Given the description of an element on the screen output the (x, y) to click on. 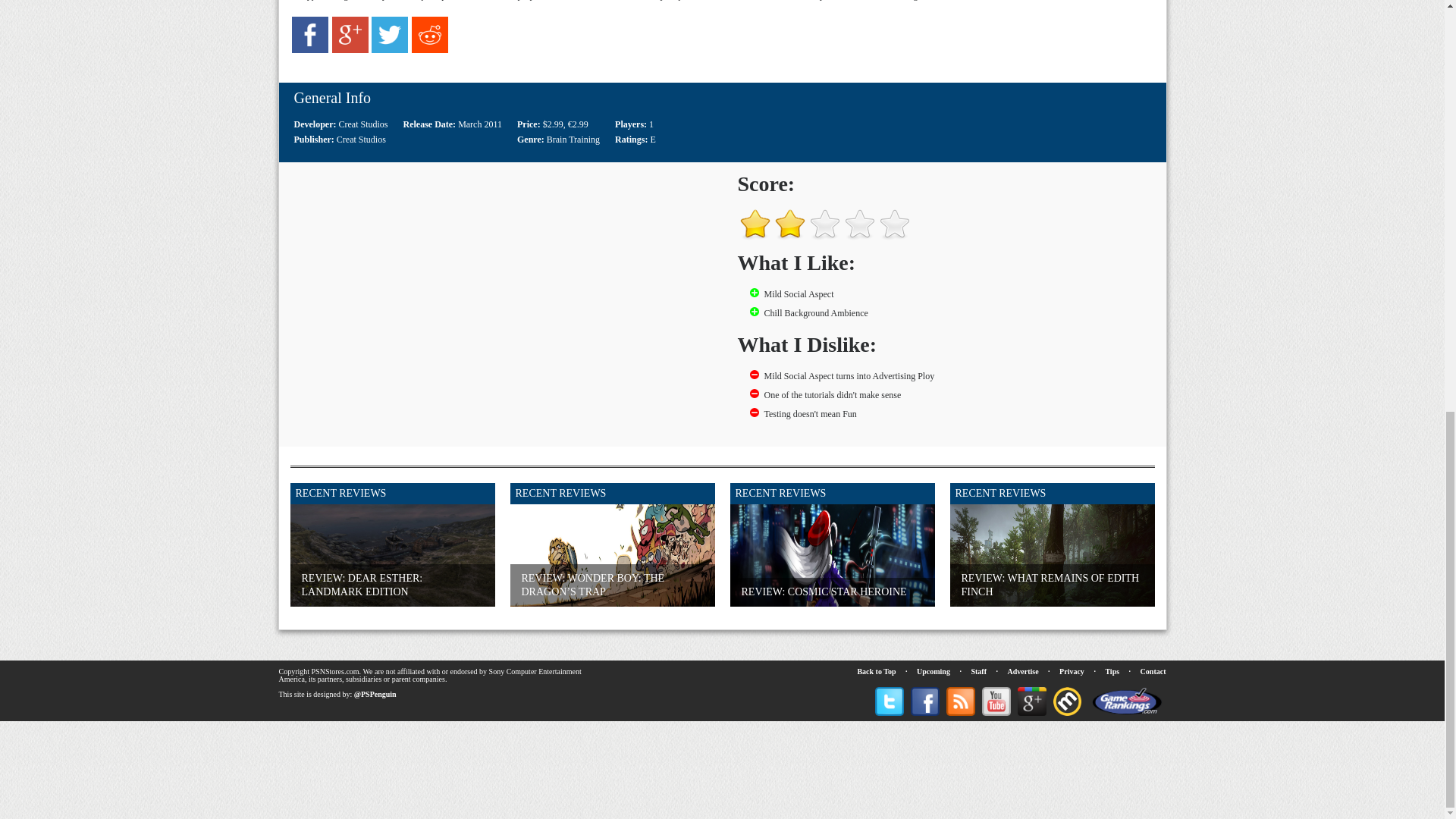
Share via Google (349, 50)
Share via Twitter (389, 50)
Share via Facebook (310, 50)
Share via Reddit (430, 50)
